Given the description of an element on the screen output the (x, y) to click on. 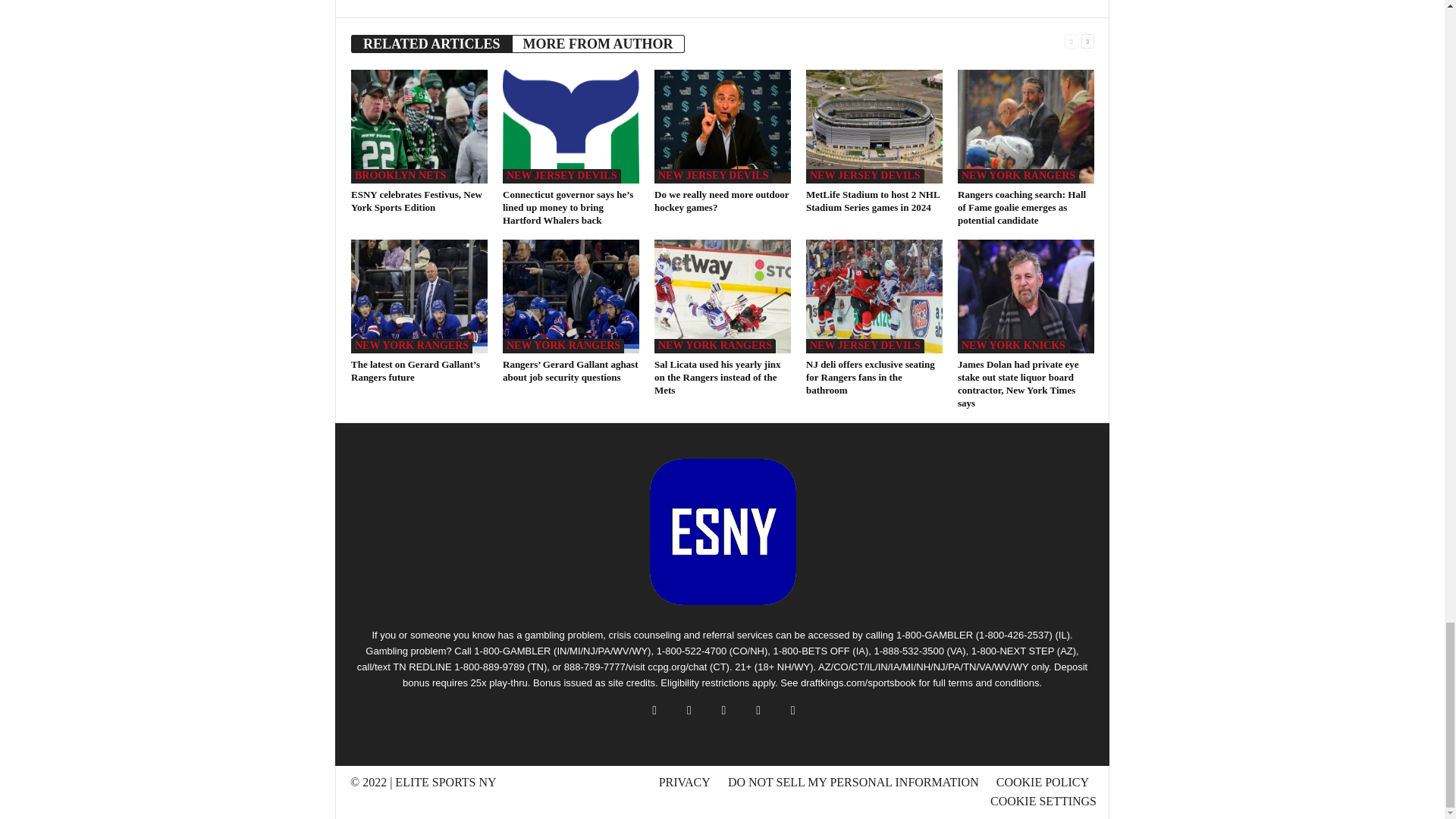
Twitter (470, 0)
Linkedin (490, 0)
ESNY celebrates Festivus, New York Sports Edition (418, 126)
Facebook (449, 0)
